Given the description of an element on the screen output the (x, y) to click on. 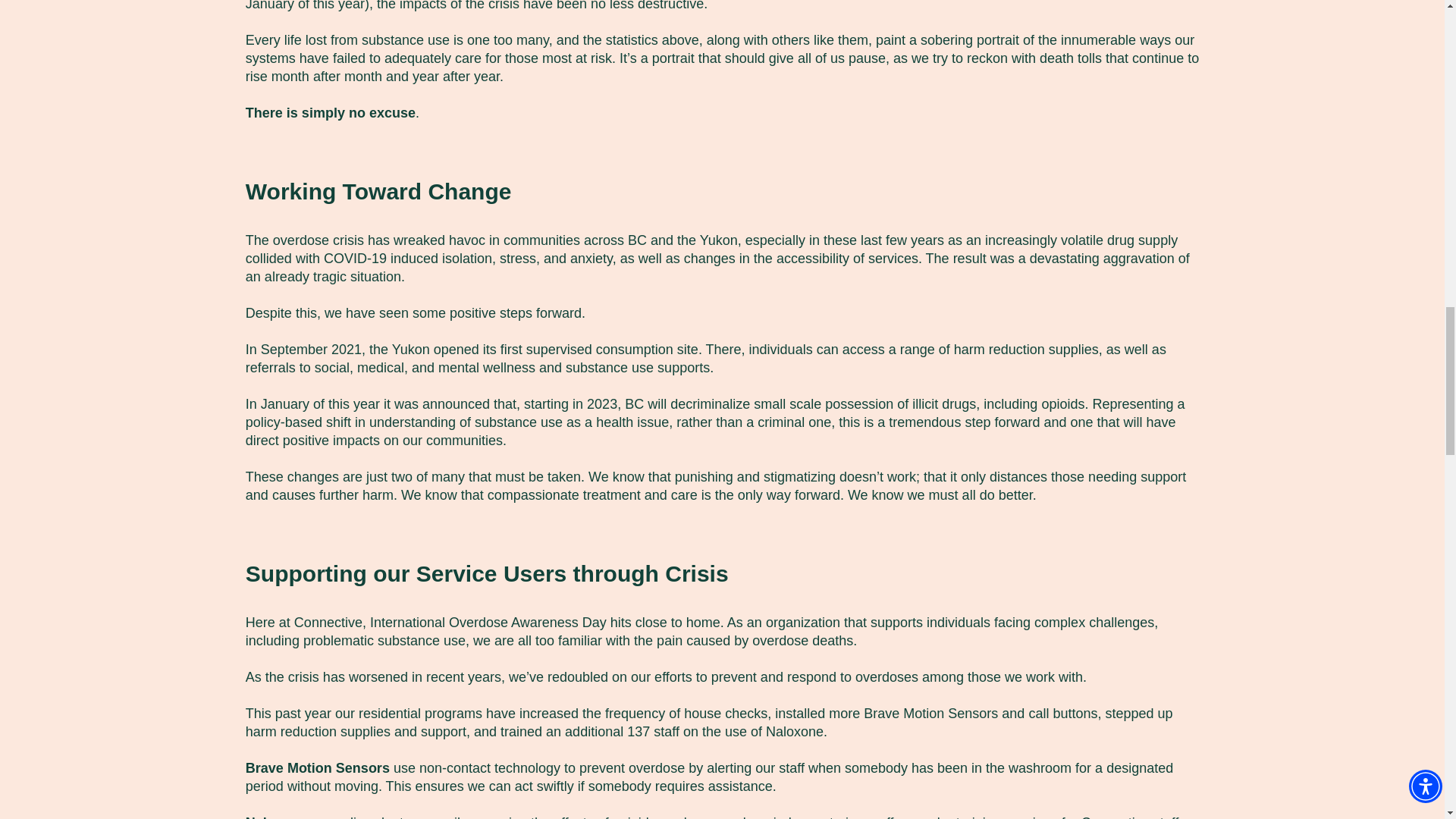
opened its first supervised consumption site (565, 349)
